Given the description of an element on the screen output the (x, y) to click on. 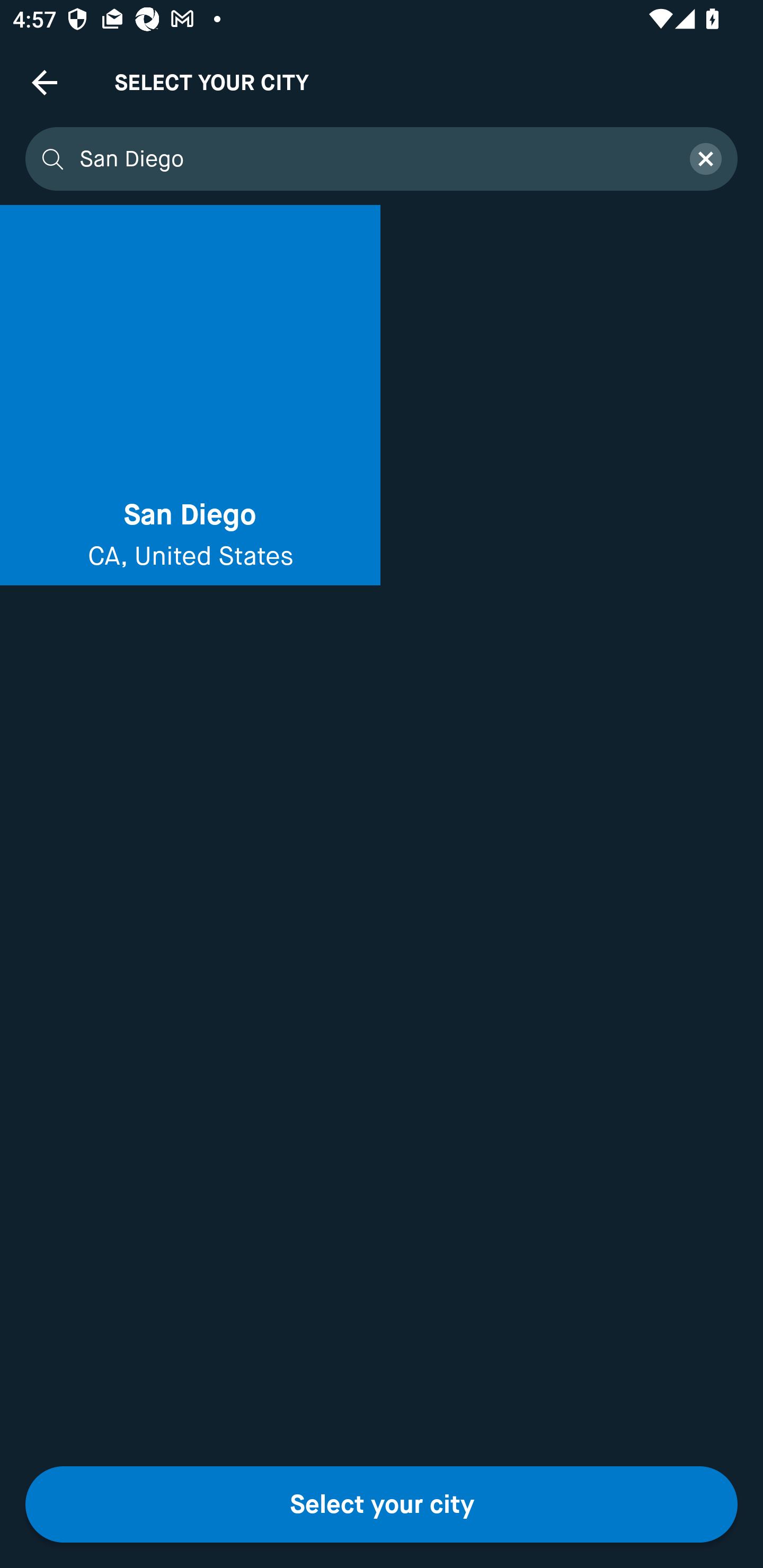
Navigate up (44, 82)
San Diego (373, 159)
San Diego CA, United States (190, 394)
Select your city (381, 1504)
